Given the description of an element on the screen output the (x, y) to click on. 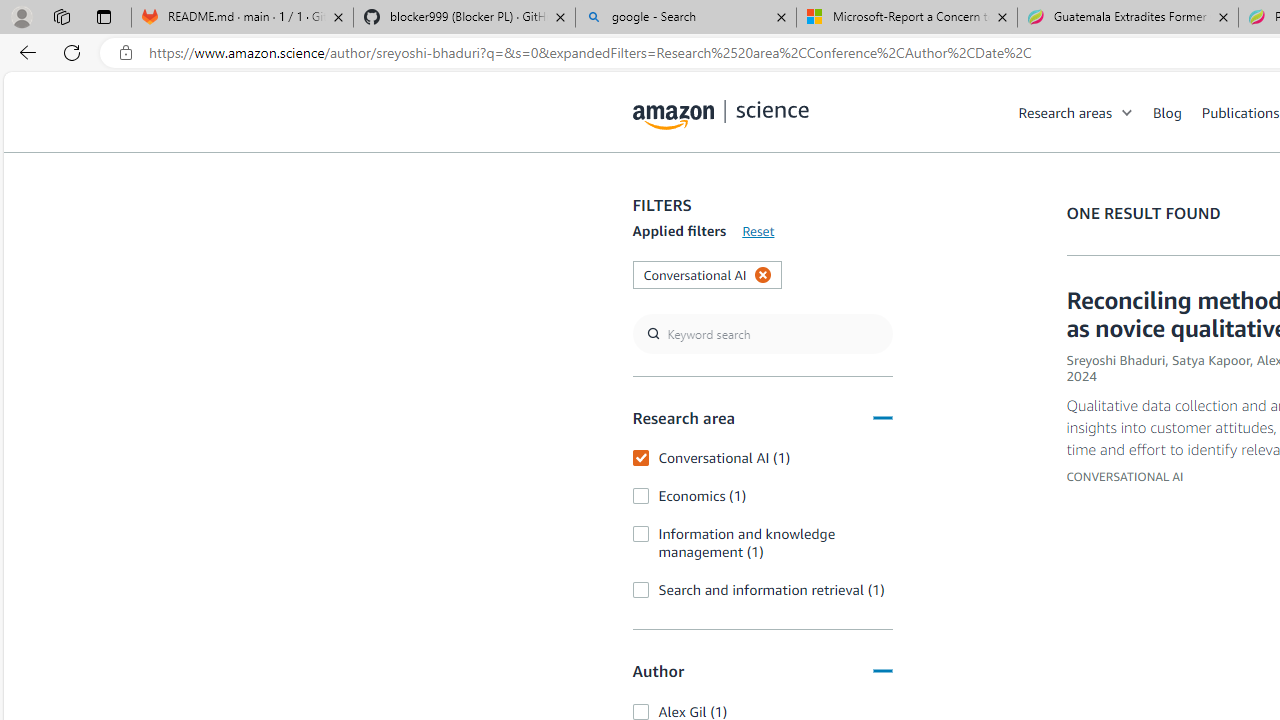
Publications (1240, 111)
Research areas (1085, 111)
Blog (1167, 111)
Open Sub Navigation (1128, 111)
Sreyoshi Bhaduri (1116, 360)
Research areas (1065, 111)
